Given the description of an element on the screen output the (x, y) to click on. 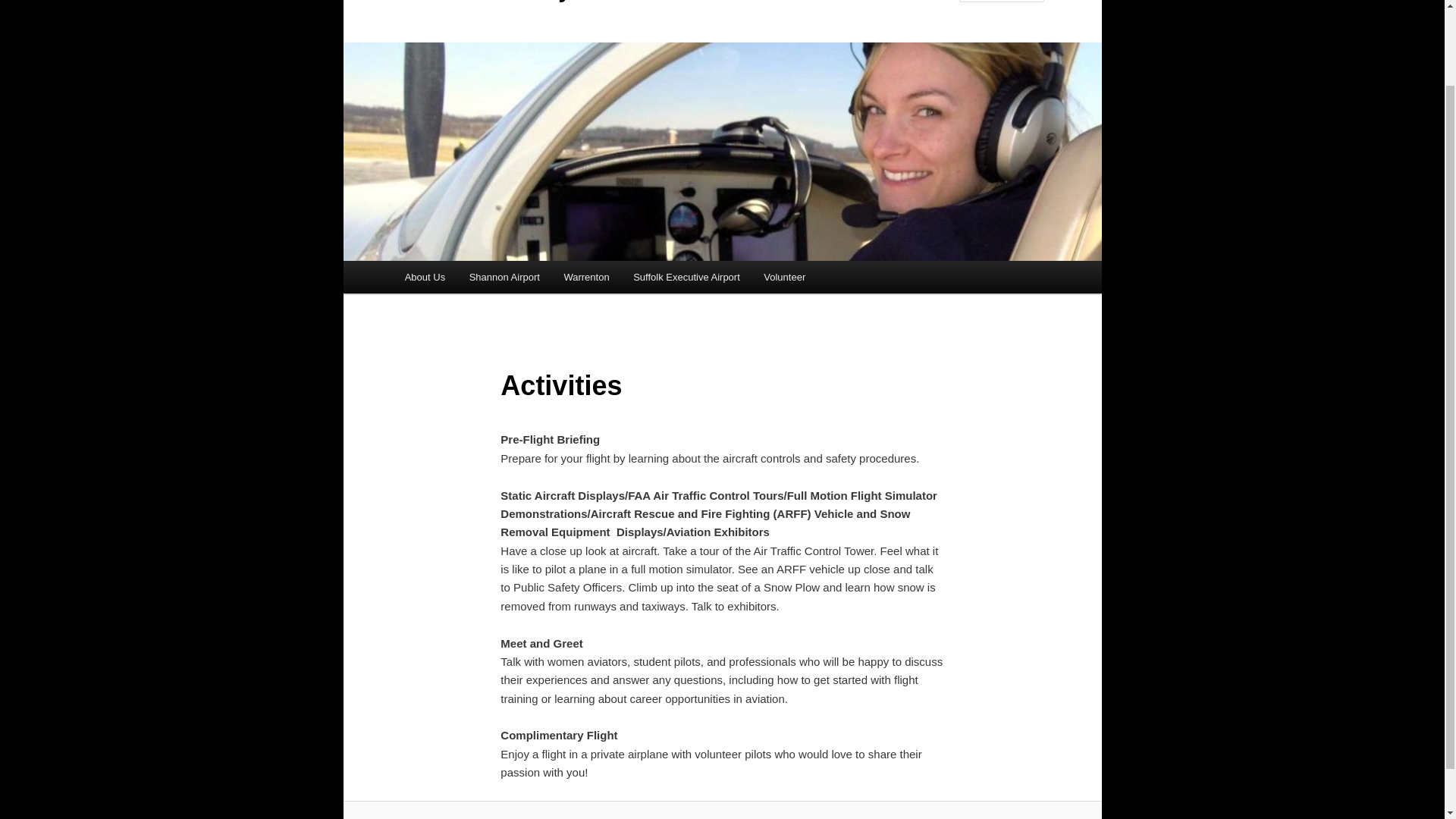
About Us (425, 277)
Warrenton (586, 277)
Shannon Airport (504, 277)
Volunteer (784, 277)
Suffolk Executive Airport (686, 277)
Women Can Fly (485, 1)
